Given the description of an element on the screen output the (x, y) to click on. 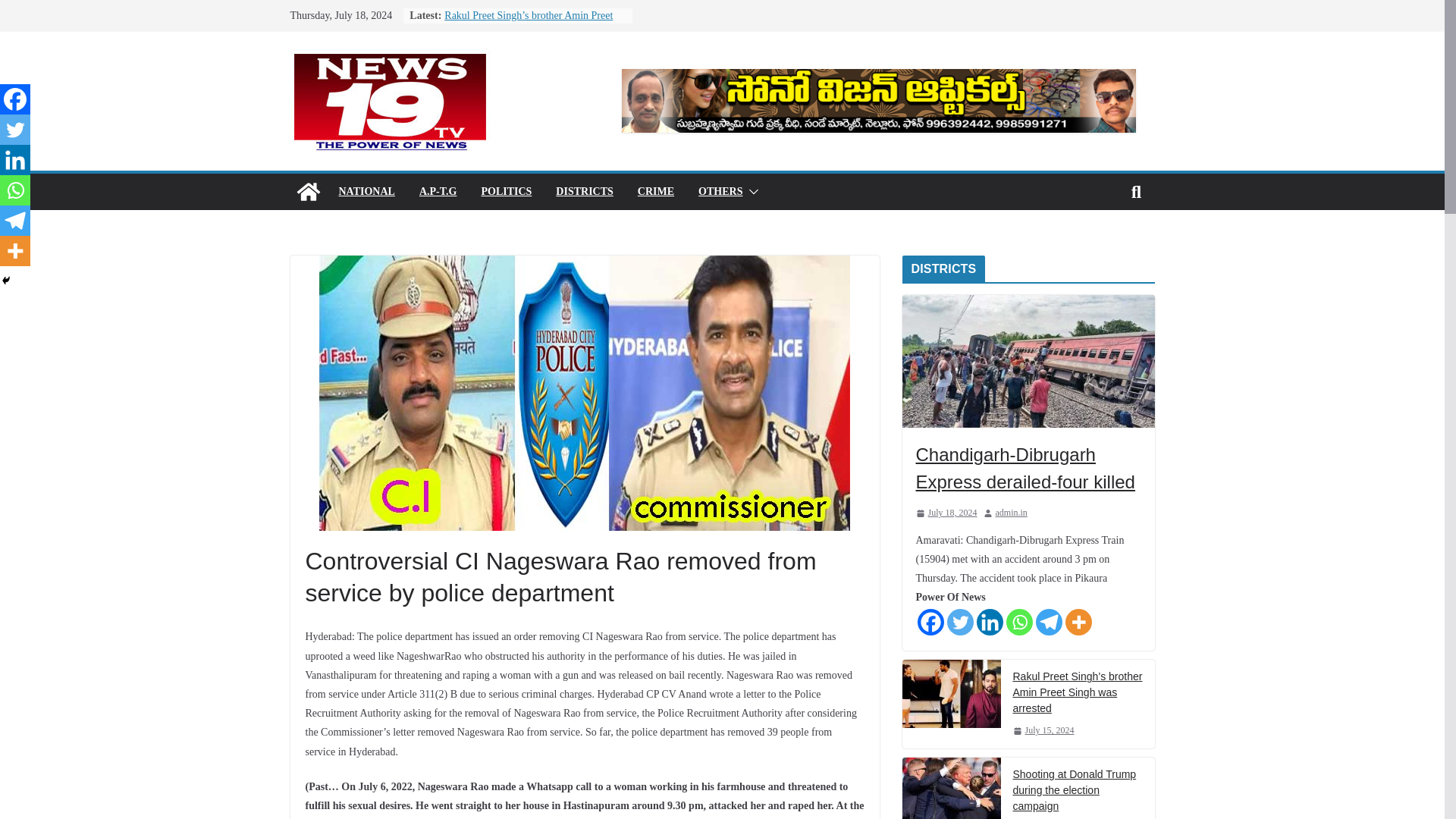
OTHERS (720, 191)
news19tv (307, 191)
CRIME (655, 191)
POLITICS (505, 191)
Facebook (15, 99)
A.P-T.G (438, 191)
NATIONAL (365, 191)
DISTRICTS (584, 191)
